Given the description of an element on the screen output the (x, y) to click on. 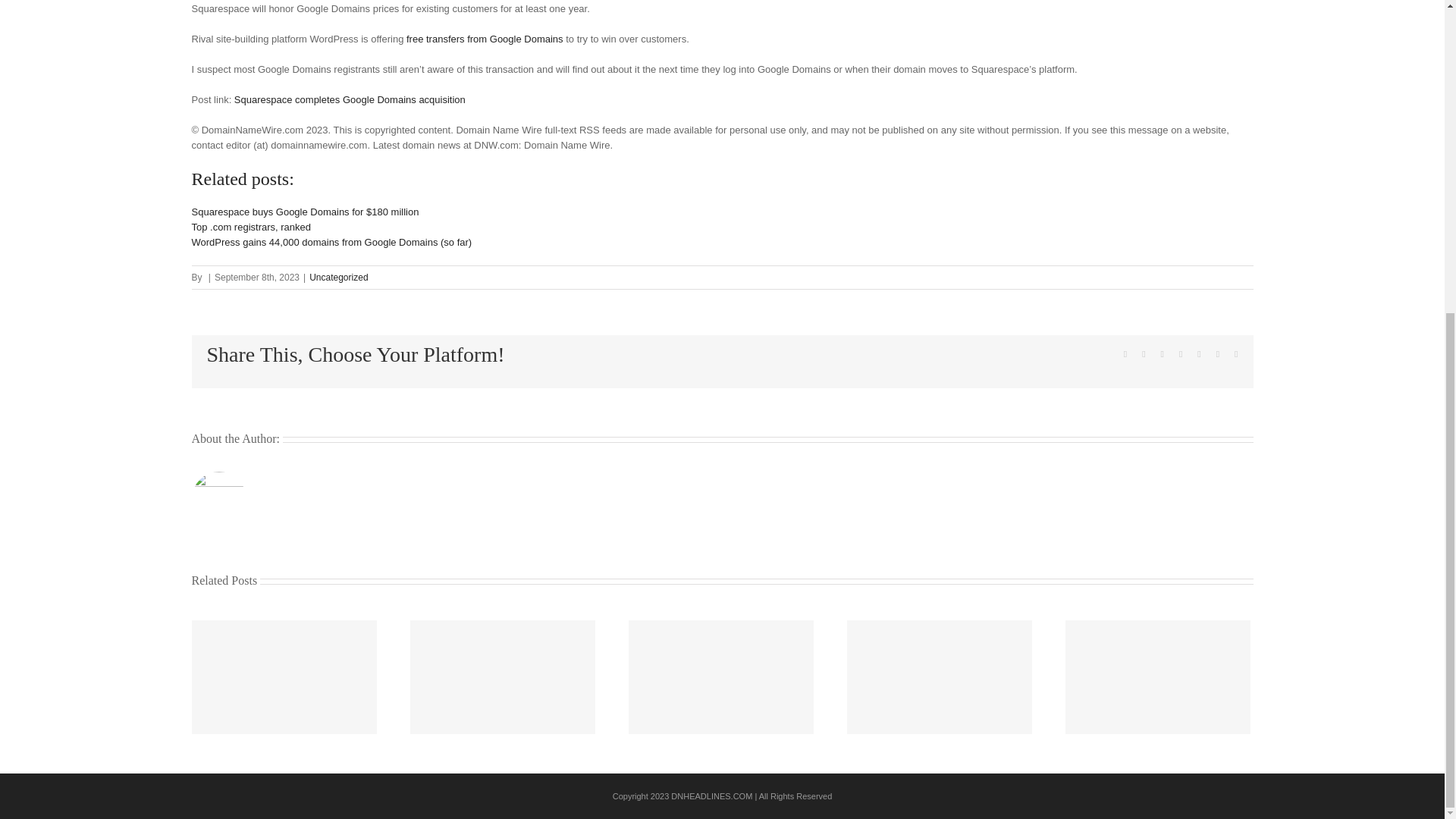
Uncategorized (338, 276)
Top .com registrars, ranked (250, 226)
Squarespace completes Google Domains acquisition (349, 99)
free transfers from Google Domains (484, 39)
Top .com registrars, ranked (250, 226)
